Given the description of an element on the screen output the (x, y) to click on. 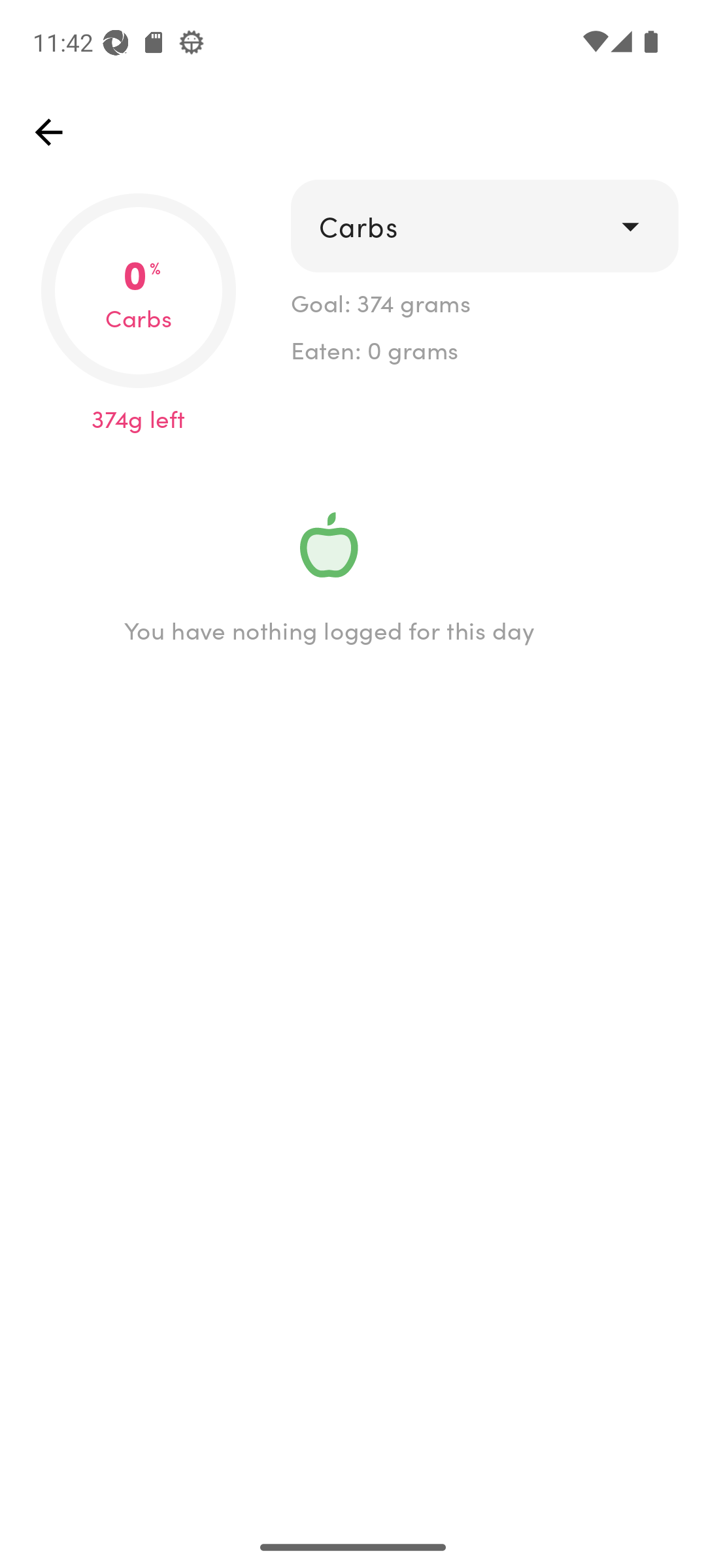
top_left_action (48, 132)
drop_down Carbs (484, 226)
